Given the description of an element on the screen output the (x, y) to click on. 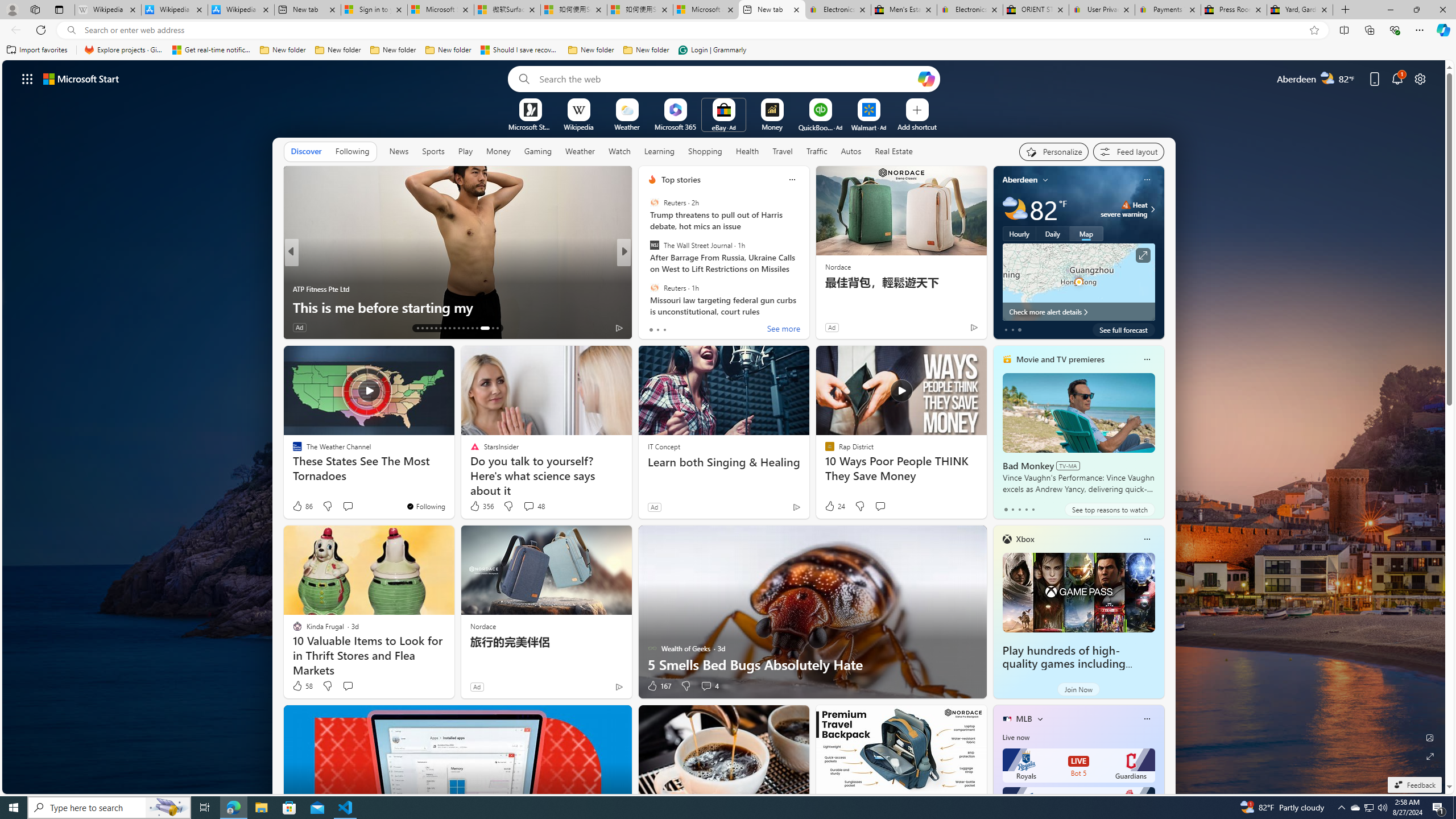
View comments 48 Comment (528, 505)
1 Like (651, 327)
New folder (646, 49)
AutomationID: tab-29 (497, 328)
Larger map  (1077, 282)
167 Like (658, 685)
